Given the description of an element on the screen output the (x, y) to click on. 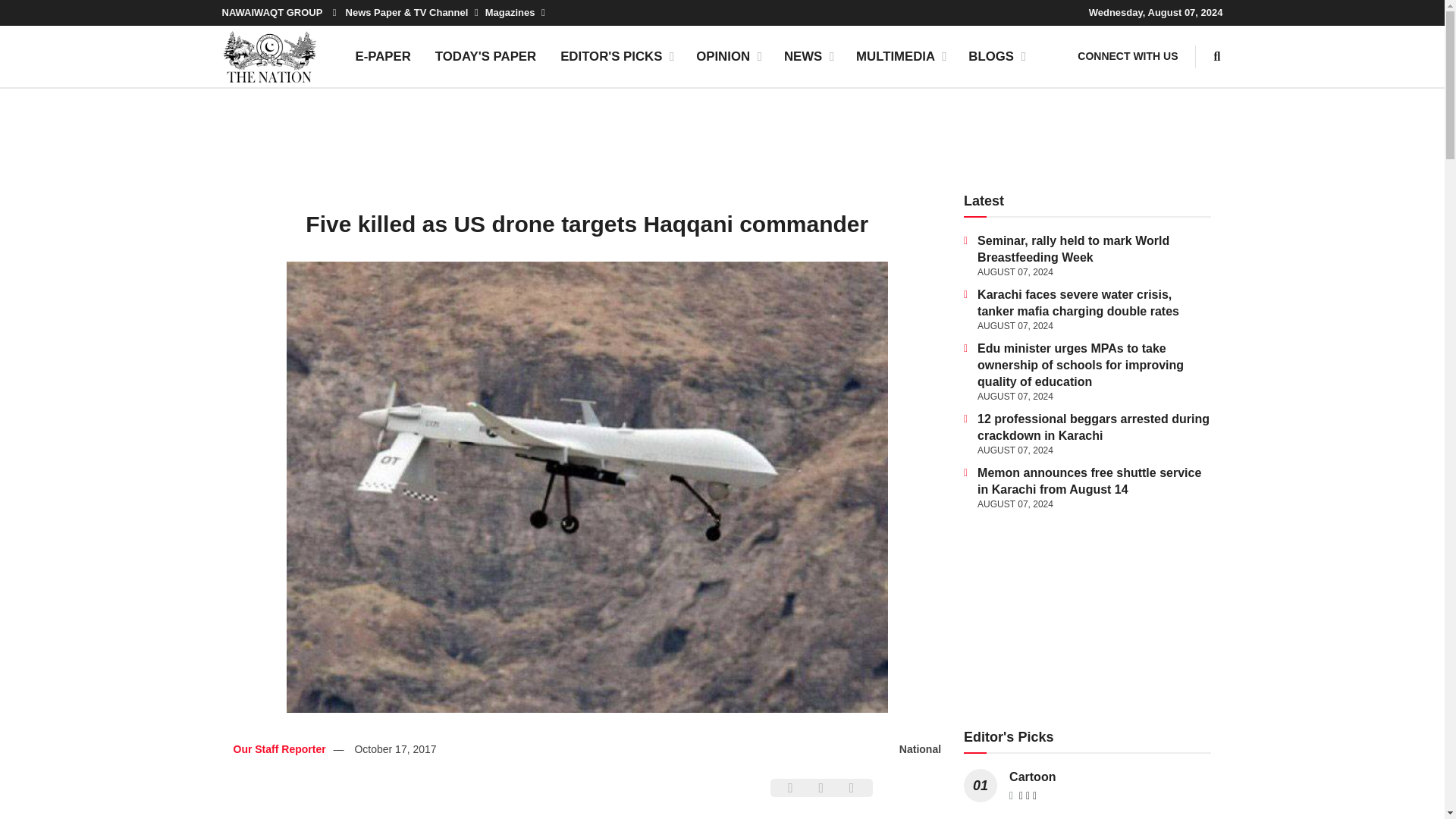
EDITOR'S PICKS (616, 55)
MULTIMEDIA (900, 55)
NEWS (807, 55)
E-PAPER (382, 55)
Magazines (513, 12)
TODAY'S PAPER (485, 55)
OPINION (727, 55)
BLOGS (995, 55)
